Given the description of an element on the screen output the (x, y) to click on. 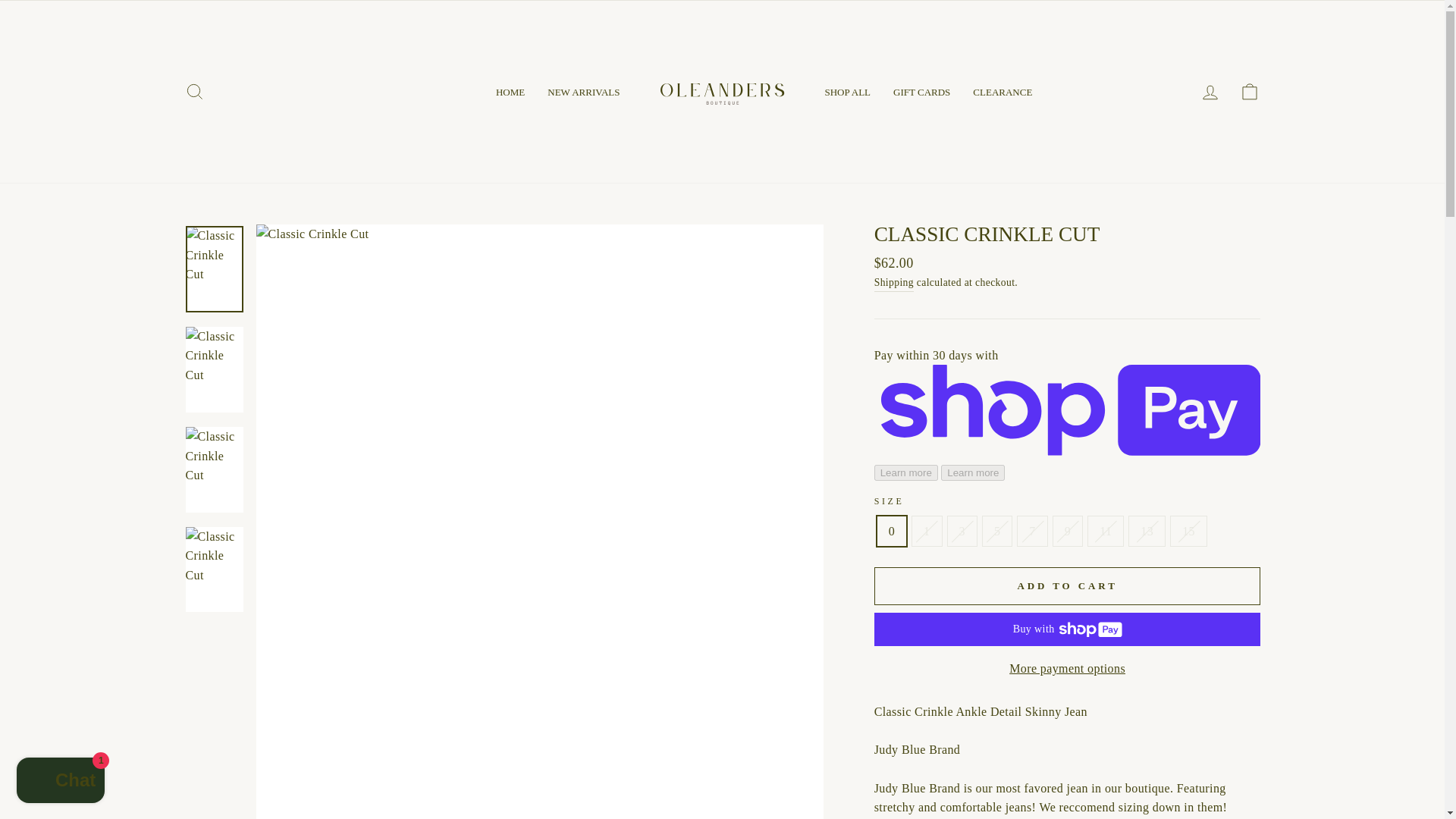
SHOP ALL (847, 91)
HOME (509, 91)
SEARCH (194, 92)
NEW ARRIVALS (582, 91)
Shopify online store chat (60, 781)
